Given the description of an element on the screen output the (x, y) to click on. 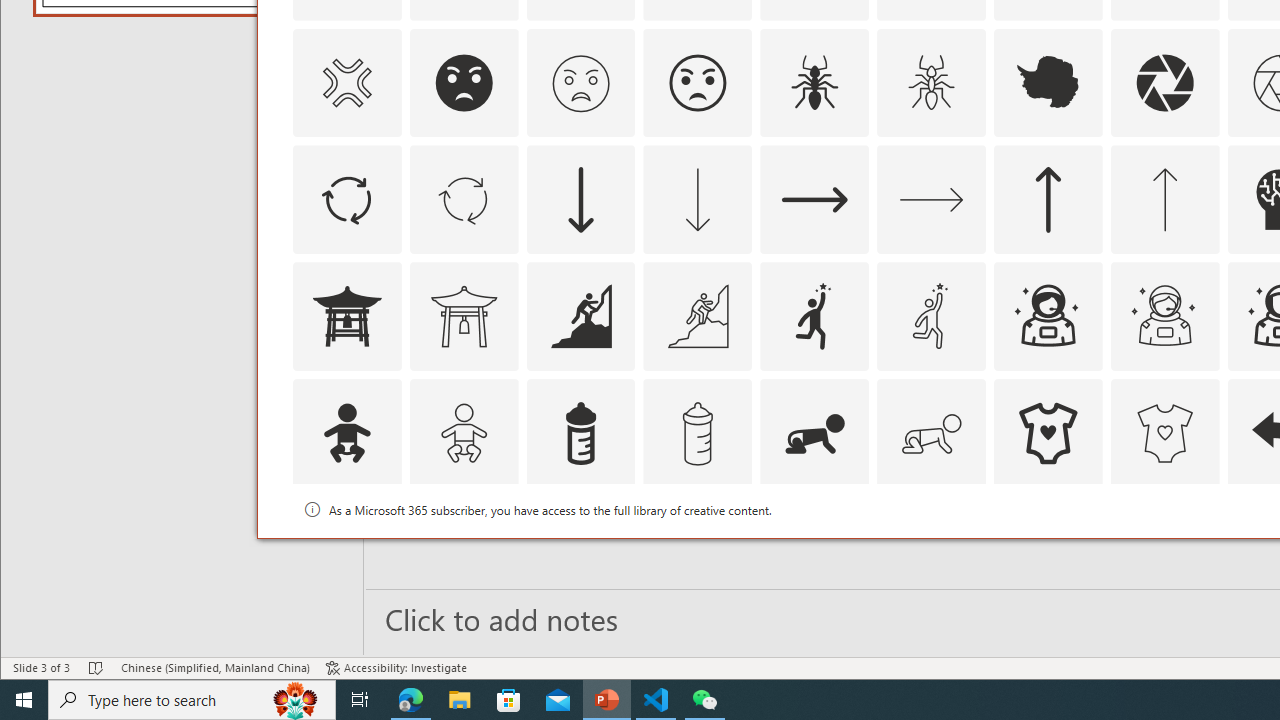
Type here to search (191, 699)
AutomationID: Icons_BabyCrawling_M (931, 434)
AutomationID: Icons_Badge4_M (1048, 550)
AutomationID: Icons (1048, 550)
Search highlights icon opens search home window (295, 699)
AutomationID: Icons_Badge2 (463, 550)
AutomationID: Icons_BabyBottle (580, 434)
AutomationID: Icons_BabyOnesie_M (1164, 434)
AutomationID: Icons_AngryFace_Outline (697, 82)
AutomationID: Icons_ArrowUp_M (1164, 200)
AutomationID: Icons_Ant (815, 82)
